Given the description of an element on the screen output the (x, y) to click on. 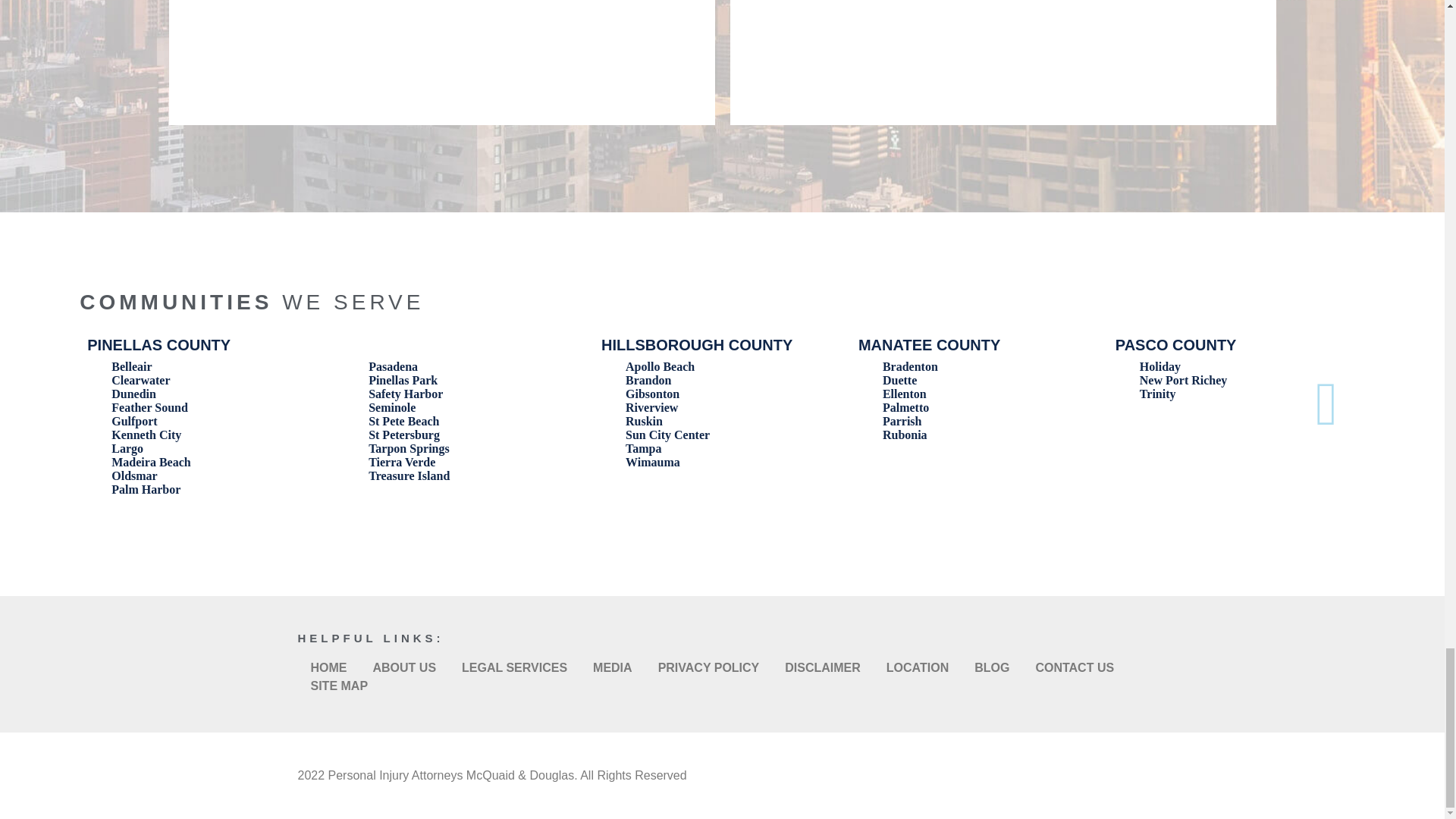
Palm Harbor (146, 489)
Safety Harbor (405, 393)
Largo (127, 448)
Gulfport (134, 420)
Feather Sound (149, 407)
PINELLAS COUNTY (158, 344)
Madeira Beach (151, 461)
Clearwater (141, 379)
Pasadena (392, 366)
Pinellas Park (403, 379)
Kenneth City (146, 434)
Dunedin (133, 393)
Oldsmar (134, 475)
Belleair (131, 366)
